Given the description of an element on the screen output the (x, y) to click on. 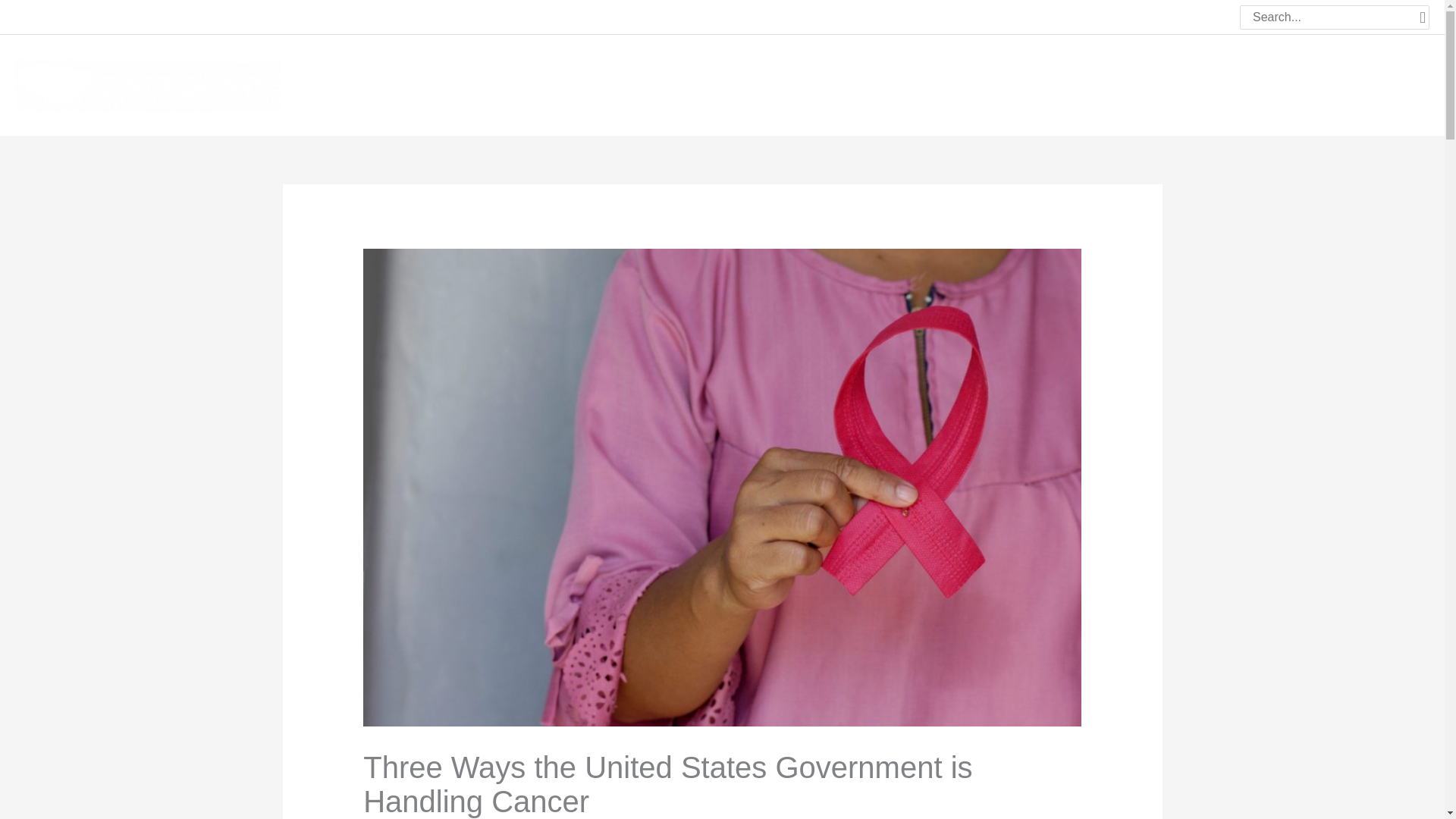
Philanthropy and Giving (1230, 83)
Sustainable Living (1367, 83)
Community Engagement (996, 83)
Advocacy (1114, 83)
